Given the description of an element on the screen output the (x, y) to click on. 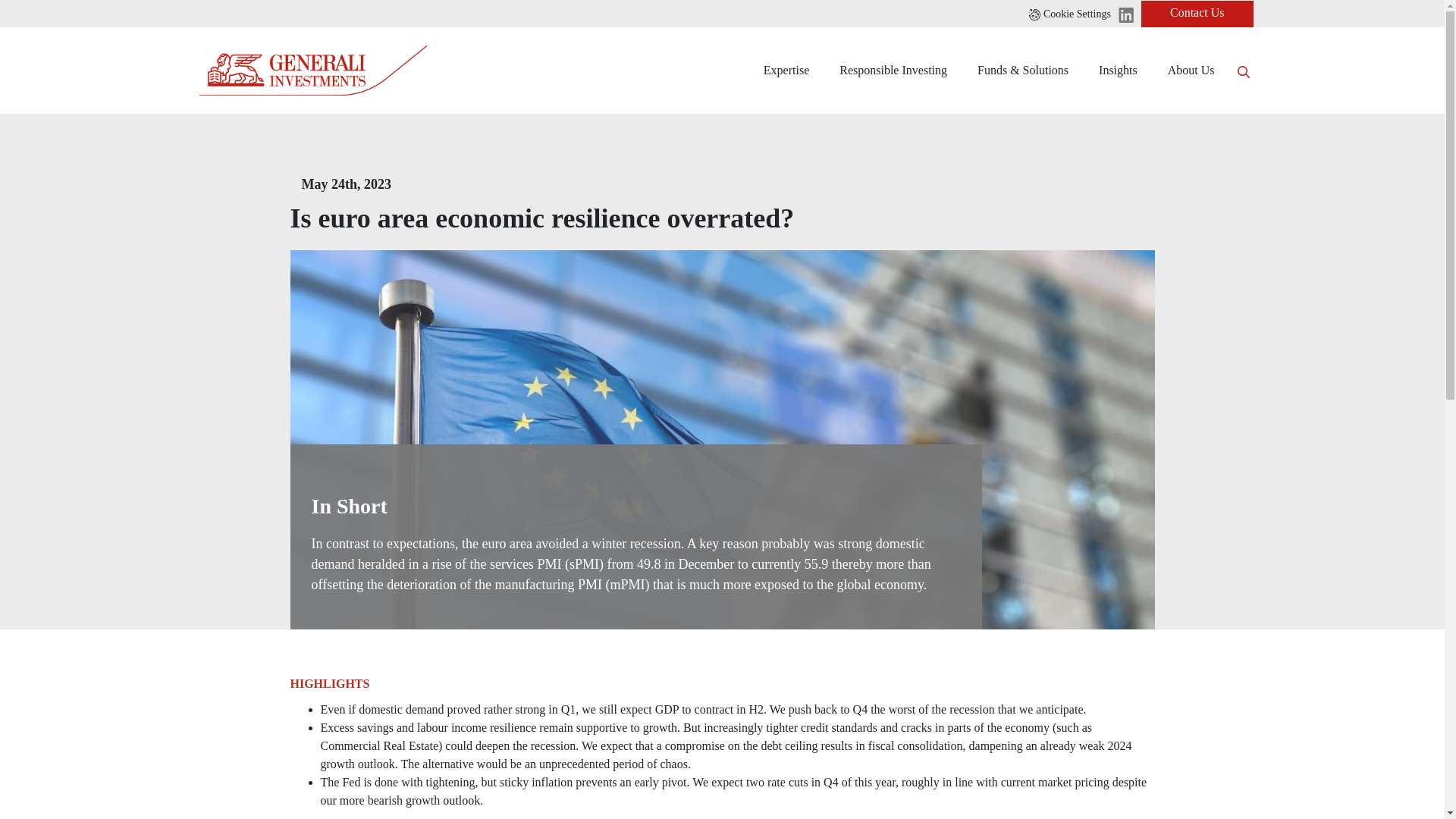
Responsible Investing (893, 70)
Insights (1118, 70)
Contact Us (1197, 13)
About Us (1191, 70)
Expertise (786, 70)
